Given the description of an element on the screen output the (x, y) to click on. 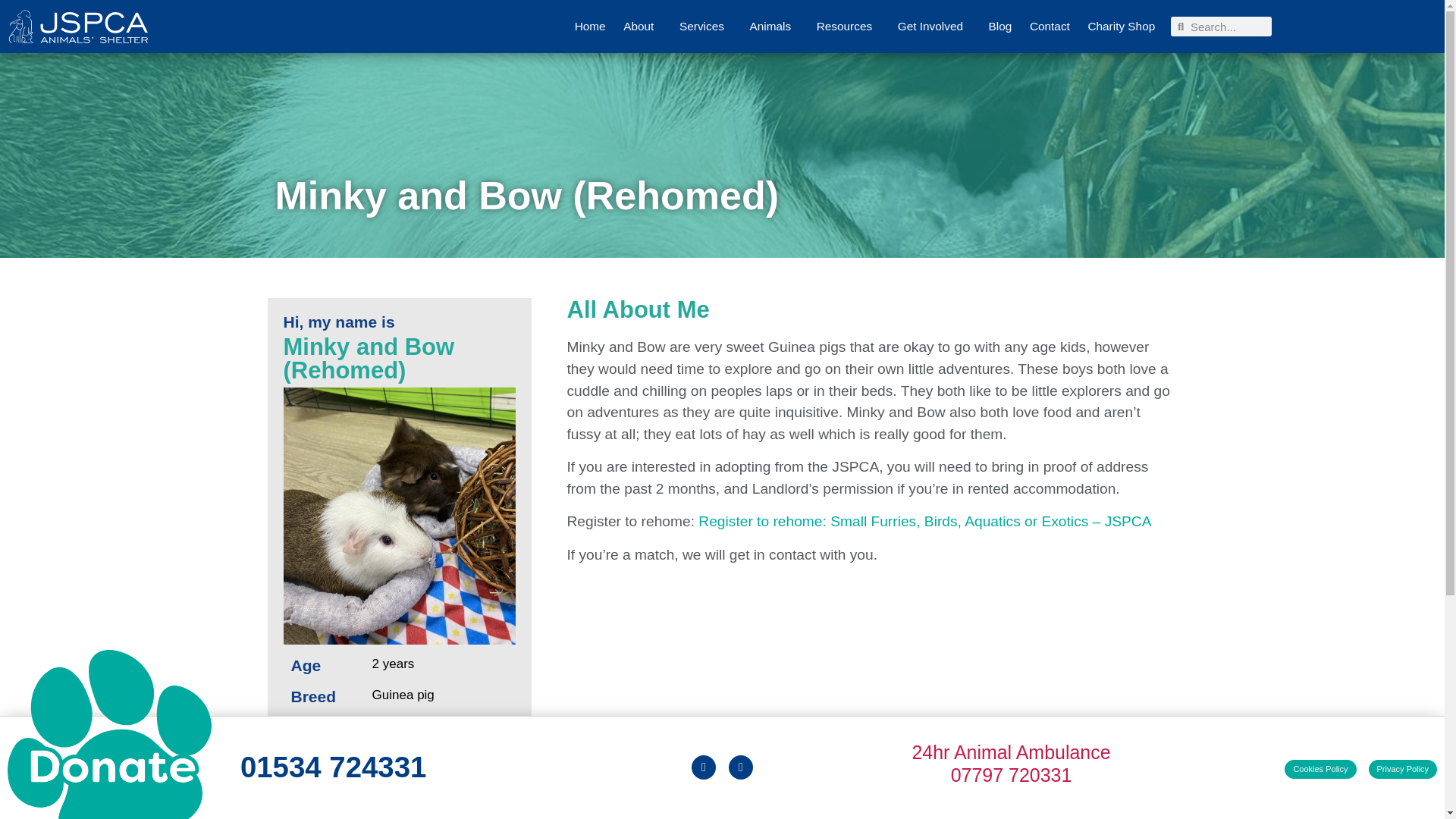
Contact (1050, 26)
Home (590, 26)
Services (705, 26)
Animals (773, 26)
About (641, 26)
Get Involved (933, 26)
Resources (848, 26)
Charity Shop (1120, 26)
